Given the description of an element on the screen output the (x, y) to click on. 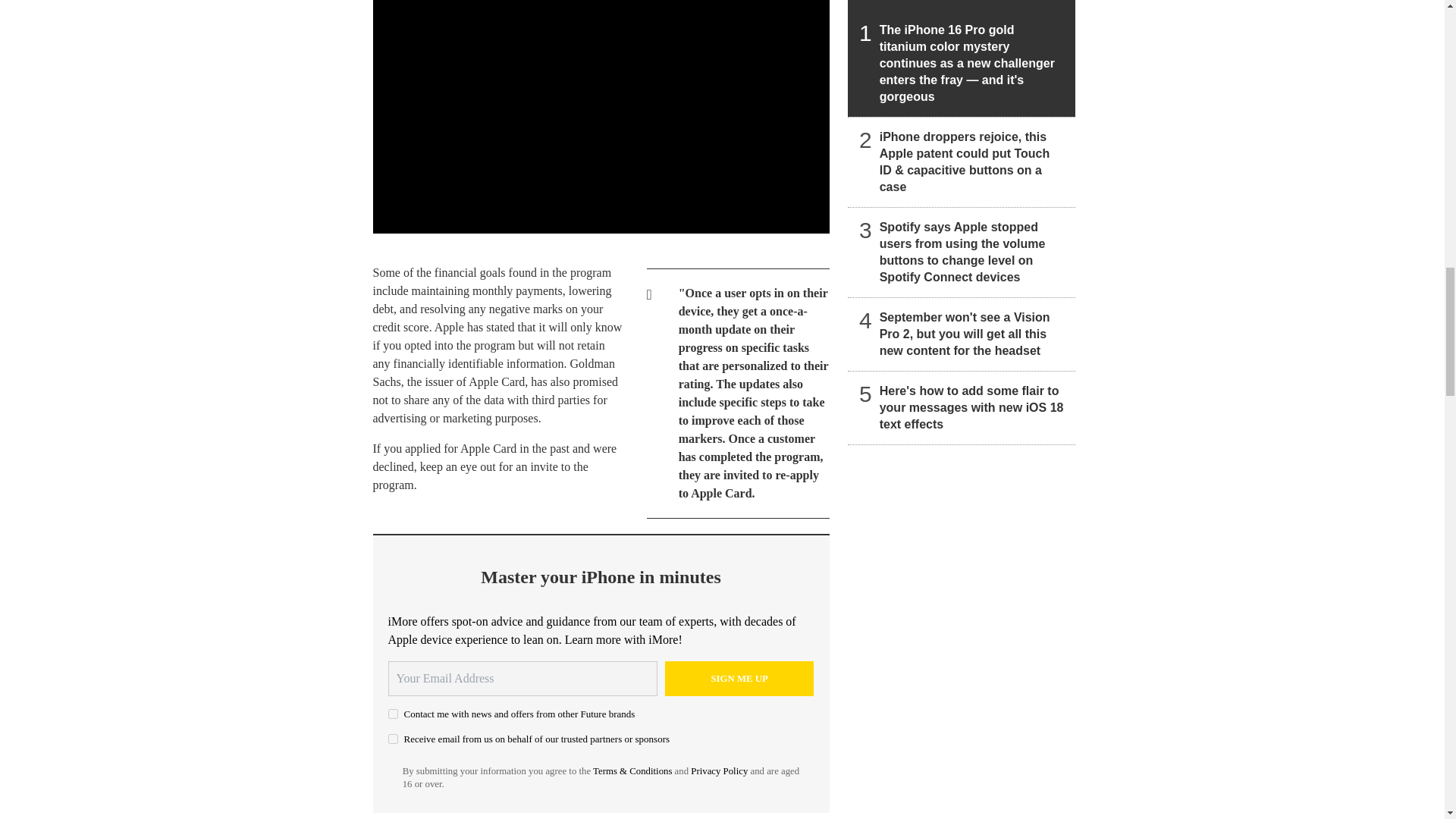
Sign me up (739, 678)
on (392, 714)
on (392, 738)
